Given the description of an element on the screen output the (x, y) to click on. 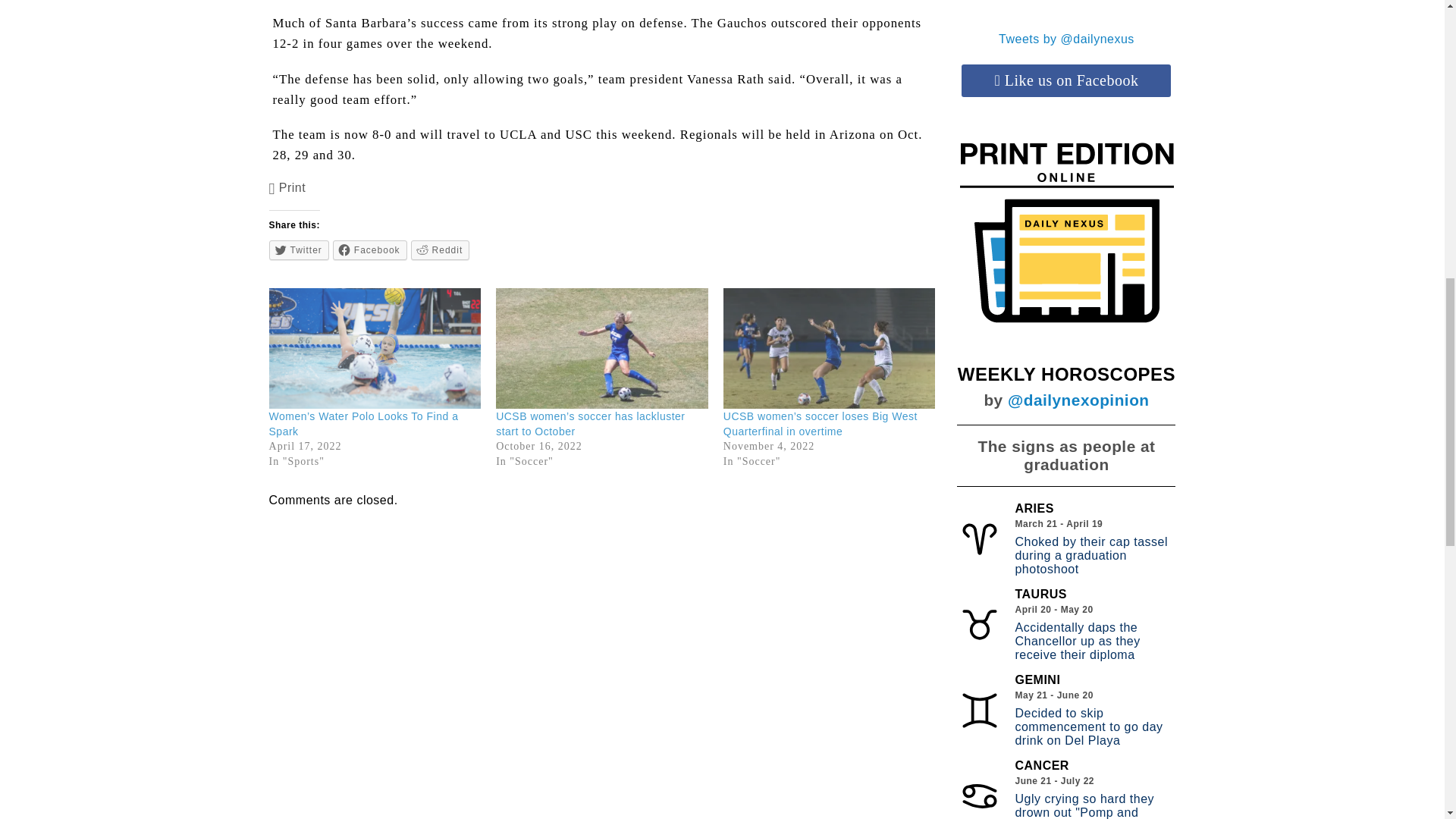
Click to share on Facebook (370, 250)
Click to share on Reddit (440, 250)
Click to share on Twitter (299, 250)
